Given the description of an element on the screen output the (x, y) to click on. 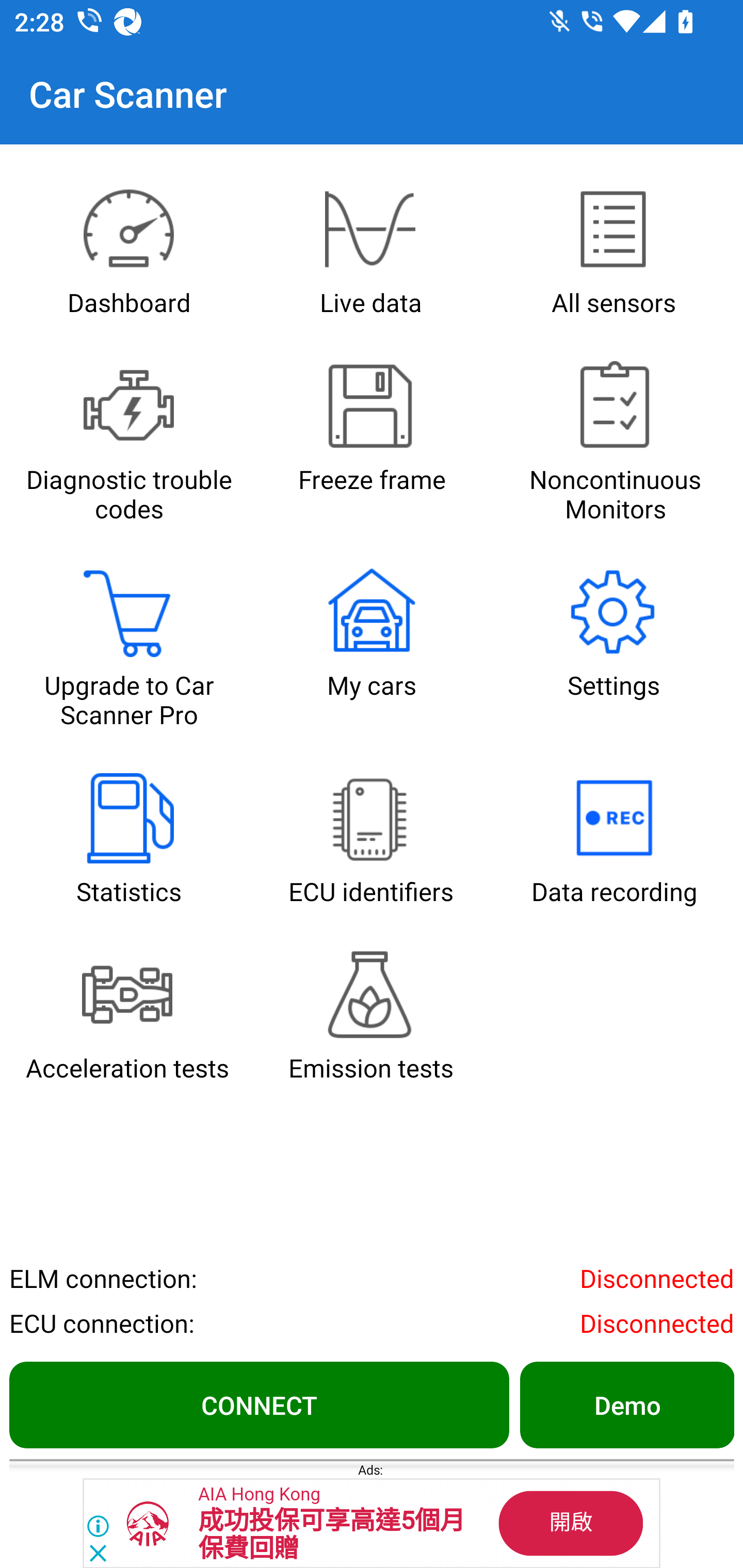
CONNECT (258, 1404)
Demo (627, 1404)
